Given the description of an element on the screen output the (x, y) to click on. 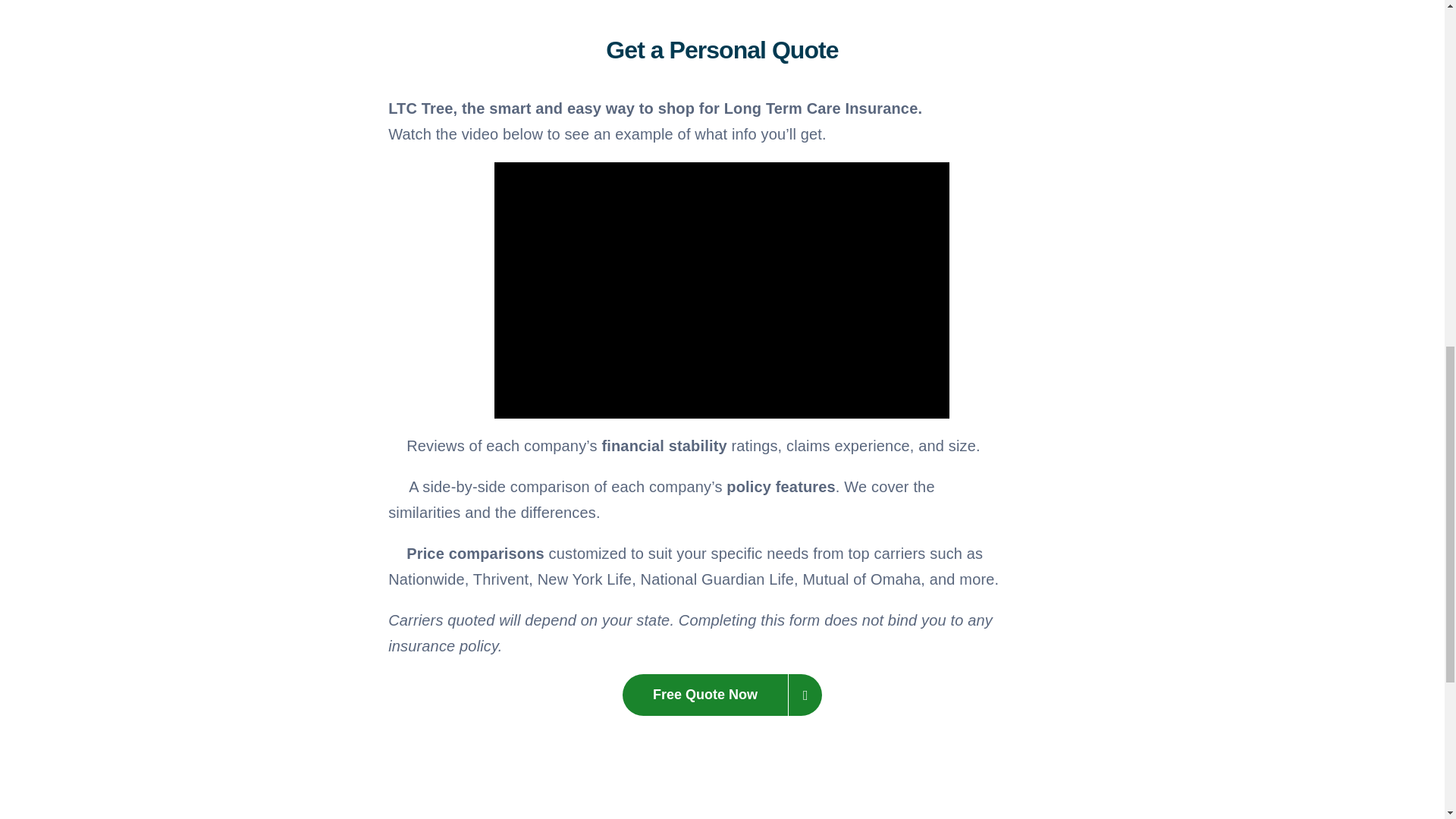
YouTube video player 1 (722, 290)
